Given the description of an element on the screen output the (x, y) to click on. 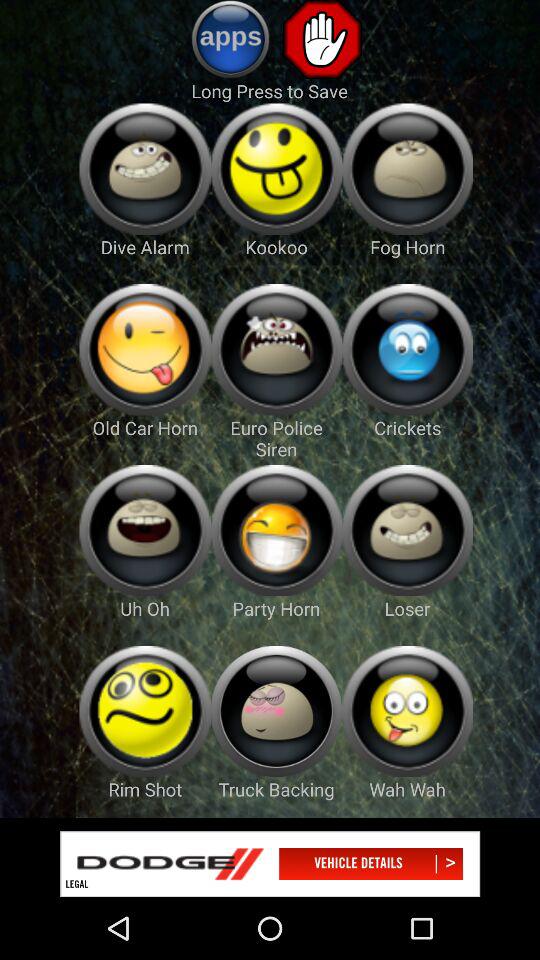
toggle ringtones (144, 349)
